Given the description of an element on the screen output the (x, y) to click on. 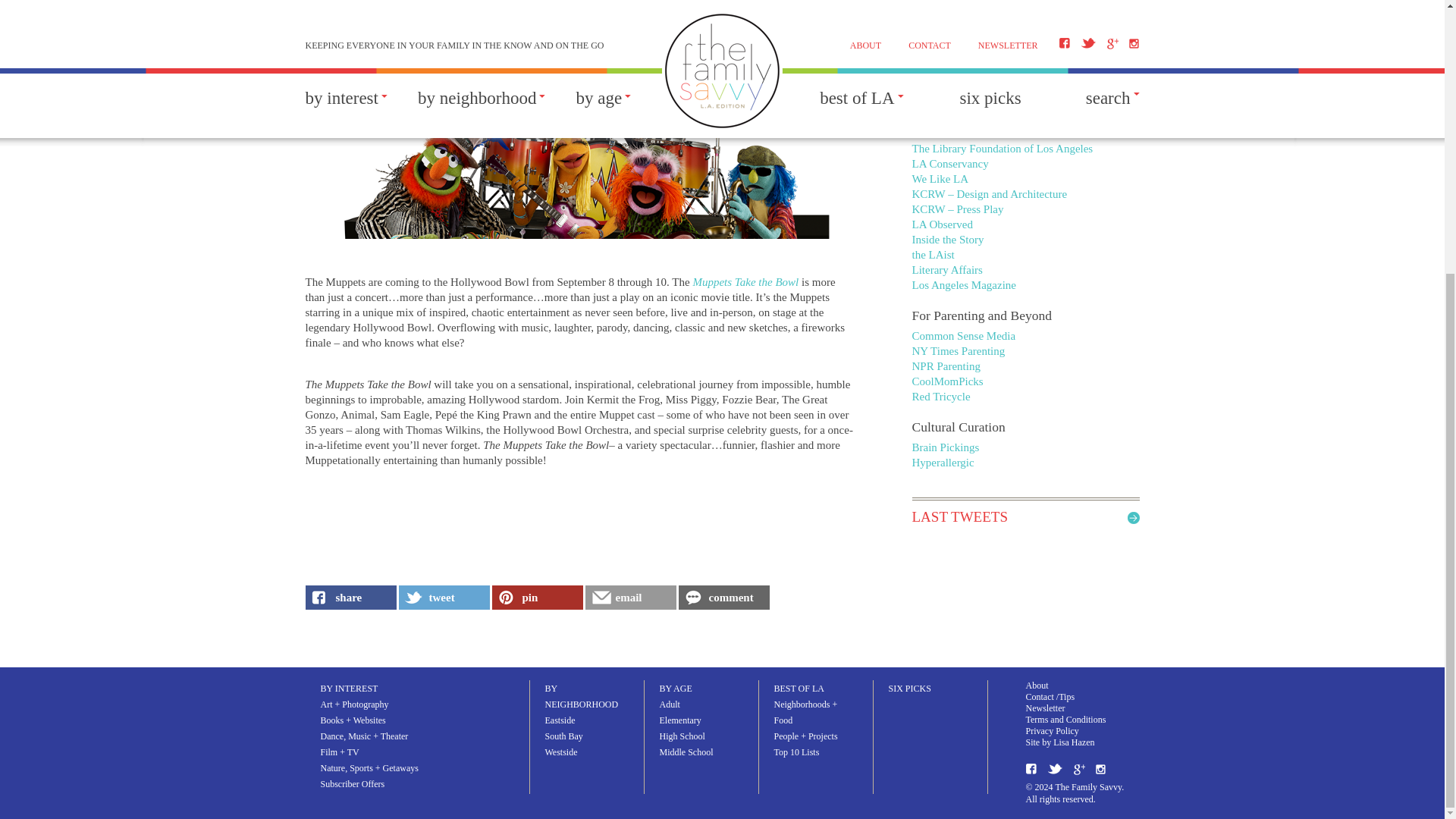
share (350, 597)
tweet (443, 597)
pin (537, 597)
Muppets Take the Bowl (744, 282)
